Given the description of an element on the screen output the (x, y) to click on. 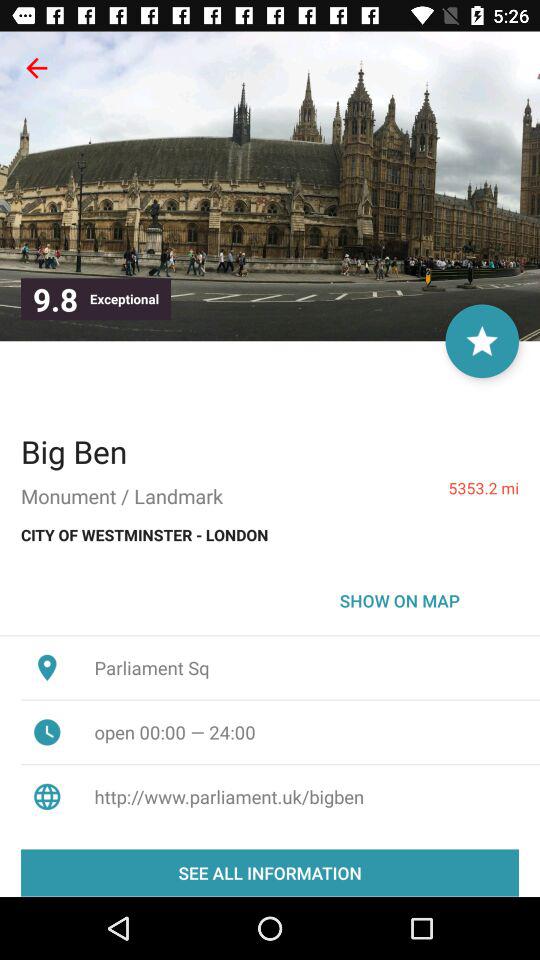
star location (482, 341)
